Given the description of an element on the screen output the (x, y) to click on. 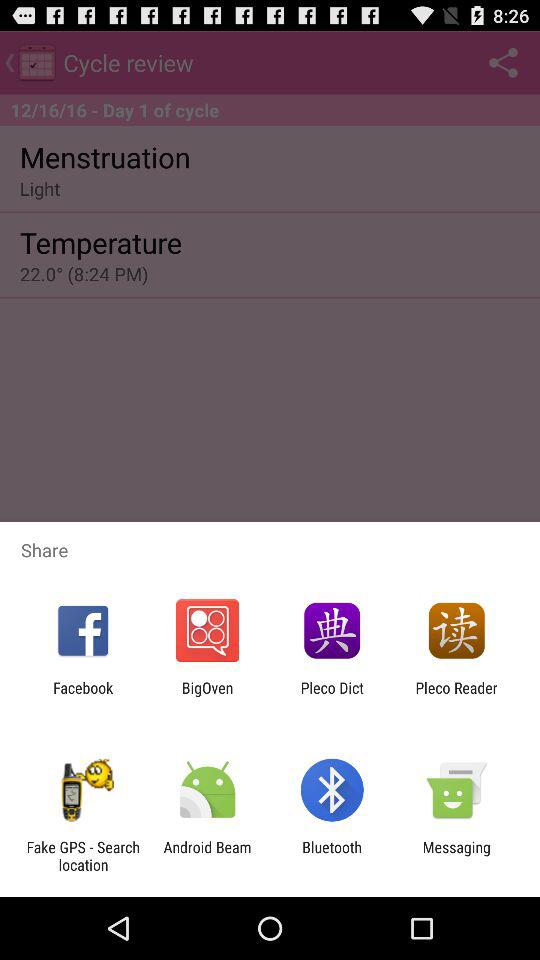
open item to the left of bluetooth item (207, 856)
